Given the description of an element on the screen output the (x, y) to click on. 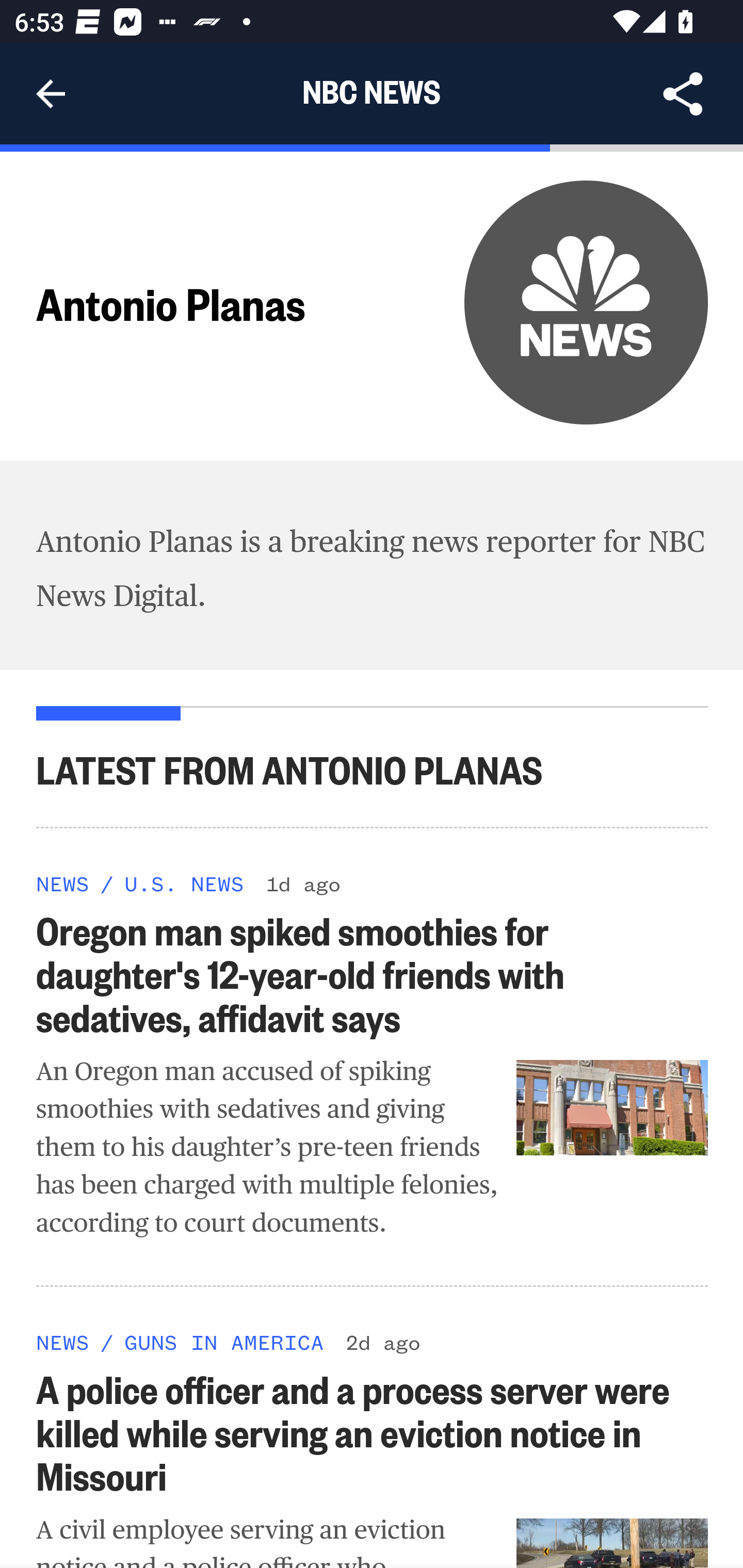
Navigate up (50, 93)
Share Article, button (683, 94)
NEWS (63, 883)
U.S. NEWS (183, 883)
NEWS (63, 1341)
GUNS IN AMERICA (223, 1341)
